Given the description of an element on the screen output the (x, y) to click on. 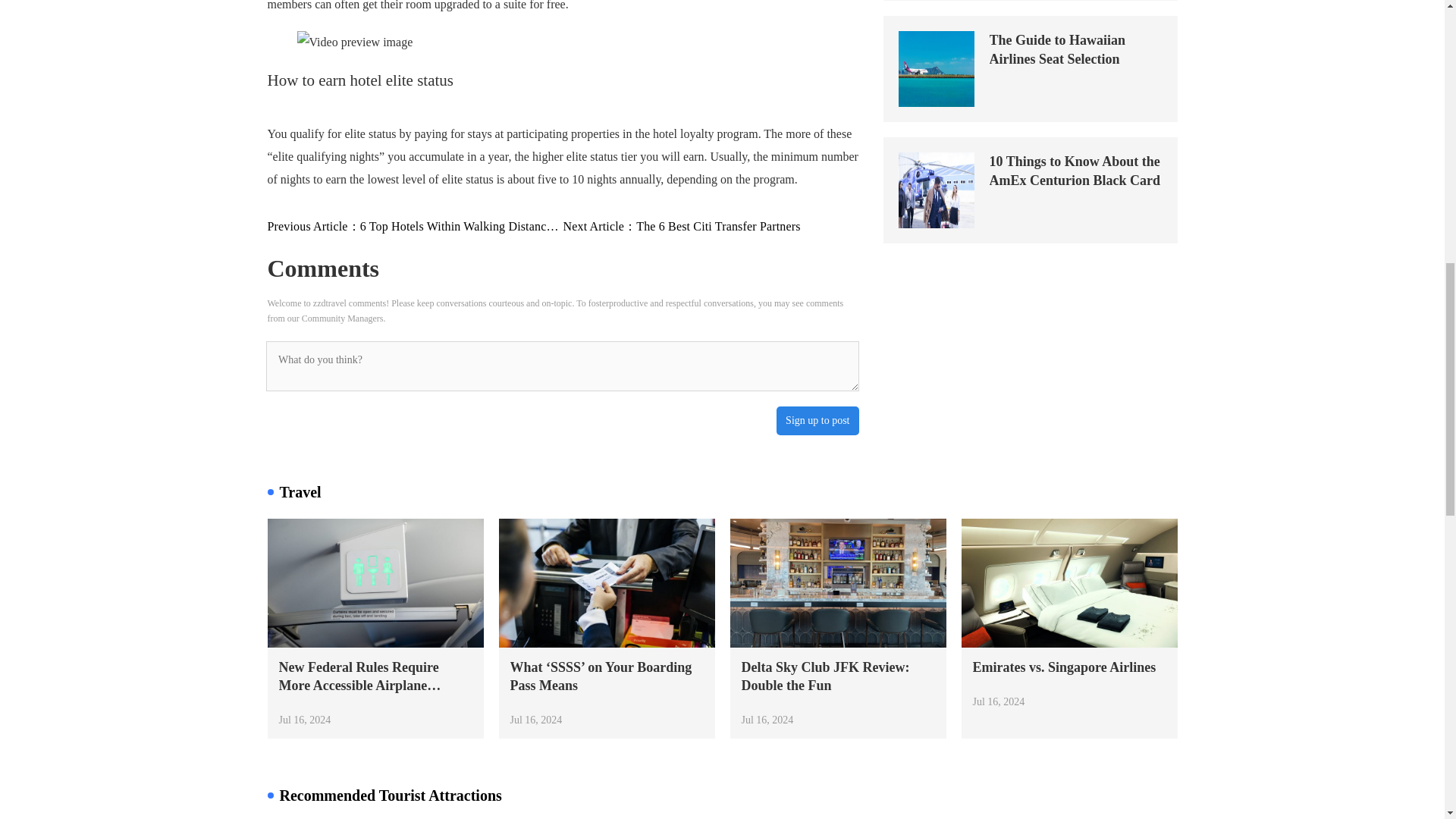
10 Things to Know About the AmEx Centurion Black Card (1029, 190)
Travel (706, 491)
The Guide to Hawaiian Airlines Seat Selection (1029, 68)
